Given the description of an element on the screen output the (x, y) to click on. 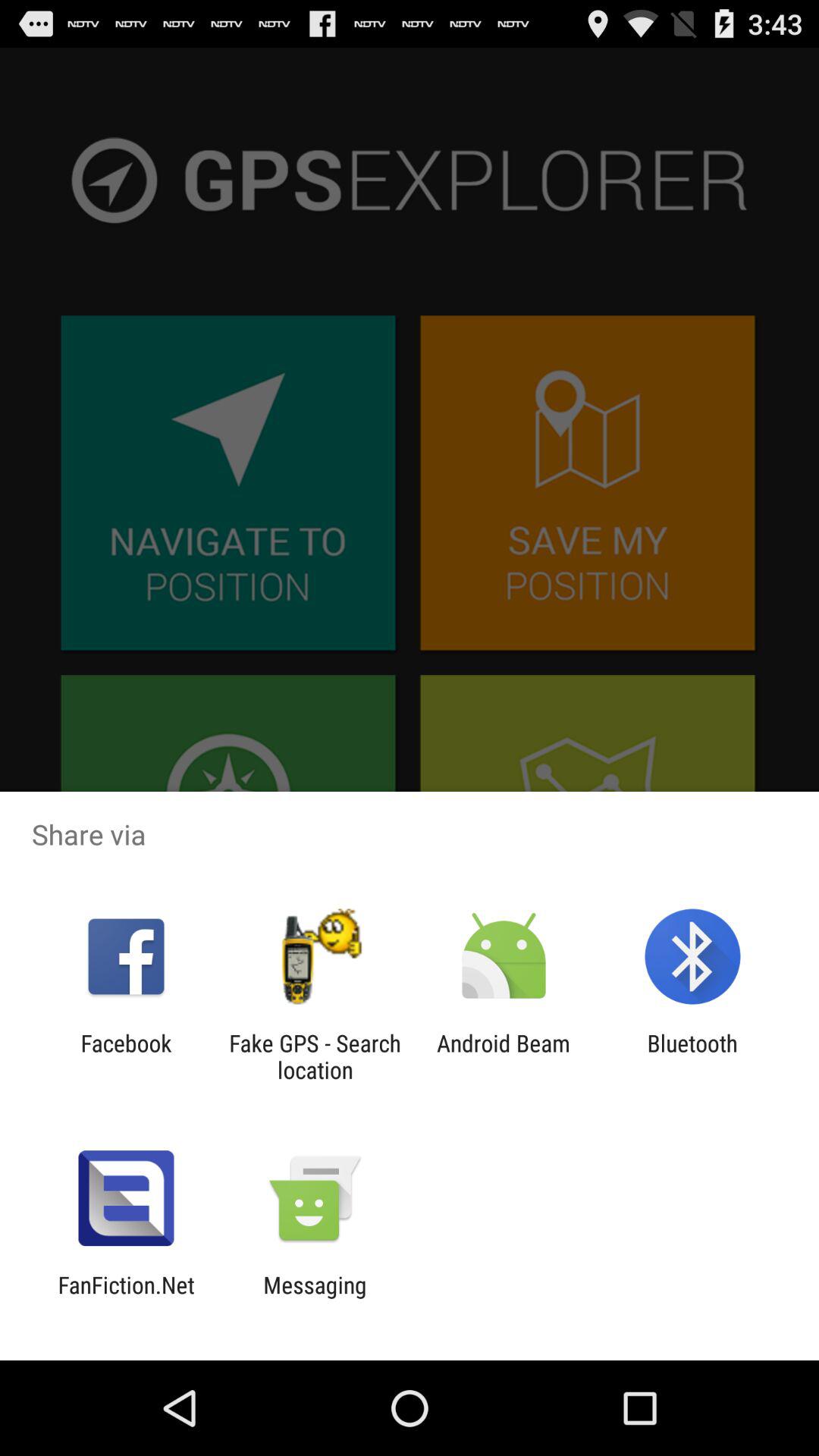
select icon next to android beam (692, 1056)
